Given the description of an element on the screen output the (x, y) to click on. 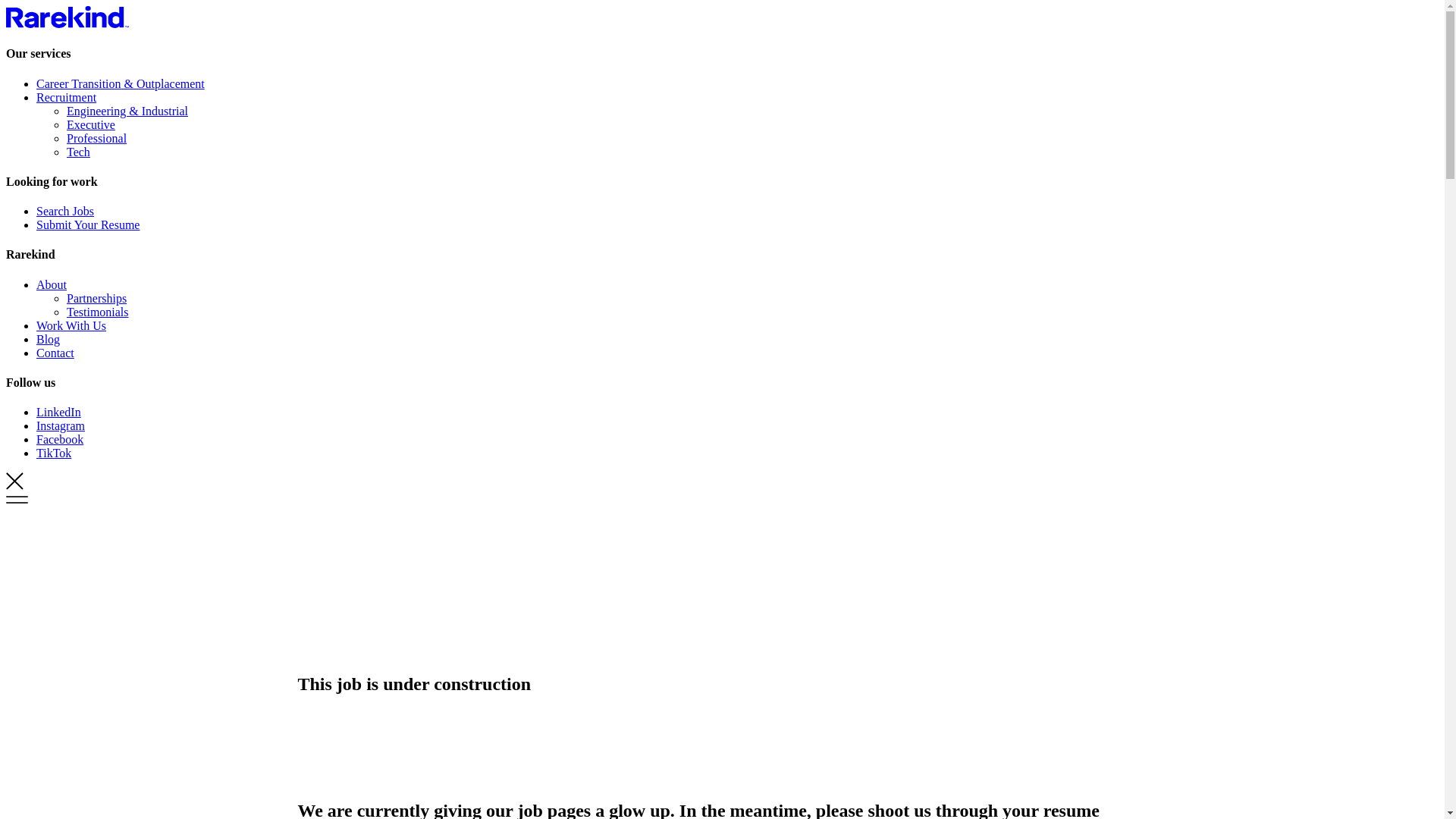
Tech Element type: text (78, 151)
Engineering & Industrial Element type: text (127, 110)
Work With Us Element type: text (71, 325)
Submit Your Resume Element type: text (87, 224)
Testimonials Element type: text (97, 311)
Facebook Element type: text (59, 439)
Blog Element type: text (47, 338)
About Element type: text (51, 284)
Executive Element type: text (90, 124)
Instagram Element type: text (60, 425)
TikTok Element type: text (53, 452)
Professional Element type: text (96, 137)
Partnerships Element type: text (96, 297)
LinkedIn Element type: text (58, 411)
Recruitment Element type: text (66, 97)
Search Jobs Element type: text (65, 210)
Contact Element type: text (55, 352)
Career Transition & Outplacement Element type: text (120, 83)
